Given the description of an element on the screen output the (x, y) to click on. 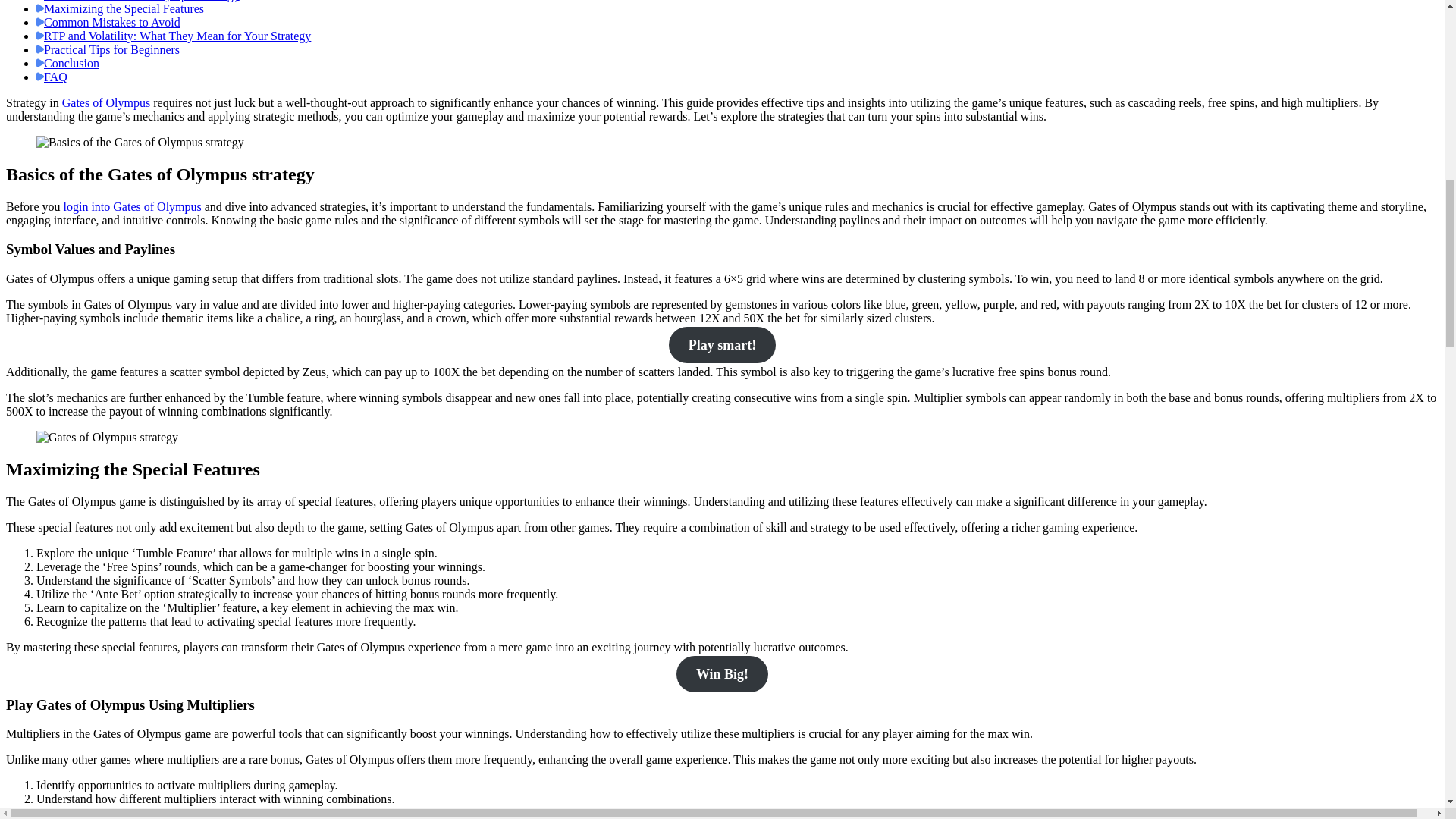
Maximizing the Special Features (123, 8)
Conclusion (71, 62)
login into Gates of Olympus (133, 205)
Gates of Olympus (105, 102)
Common Mistakes to Avoid (111, 21)
RTP and Volatility: What They Mean for Your Strategy (177, 35)
FAQ (54, 76)
Practical Tips for Beginners (111, 49)
